Given the description of an element on the screen output the (x, y) to click on. 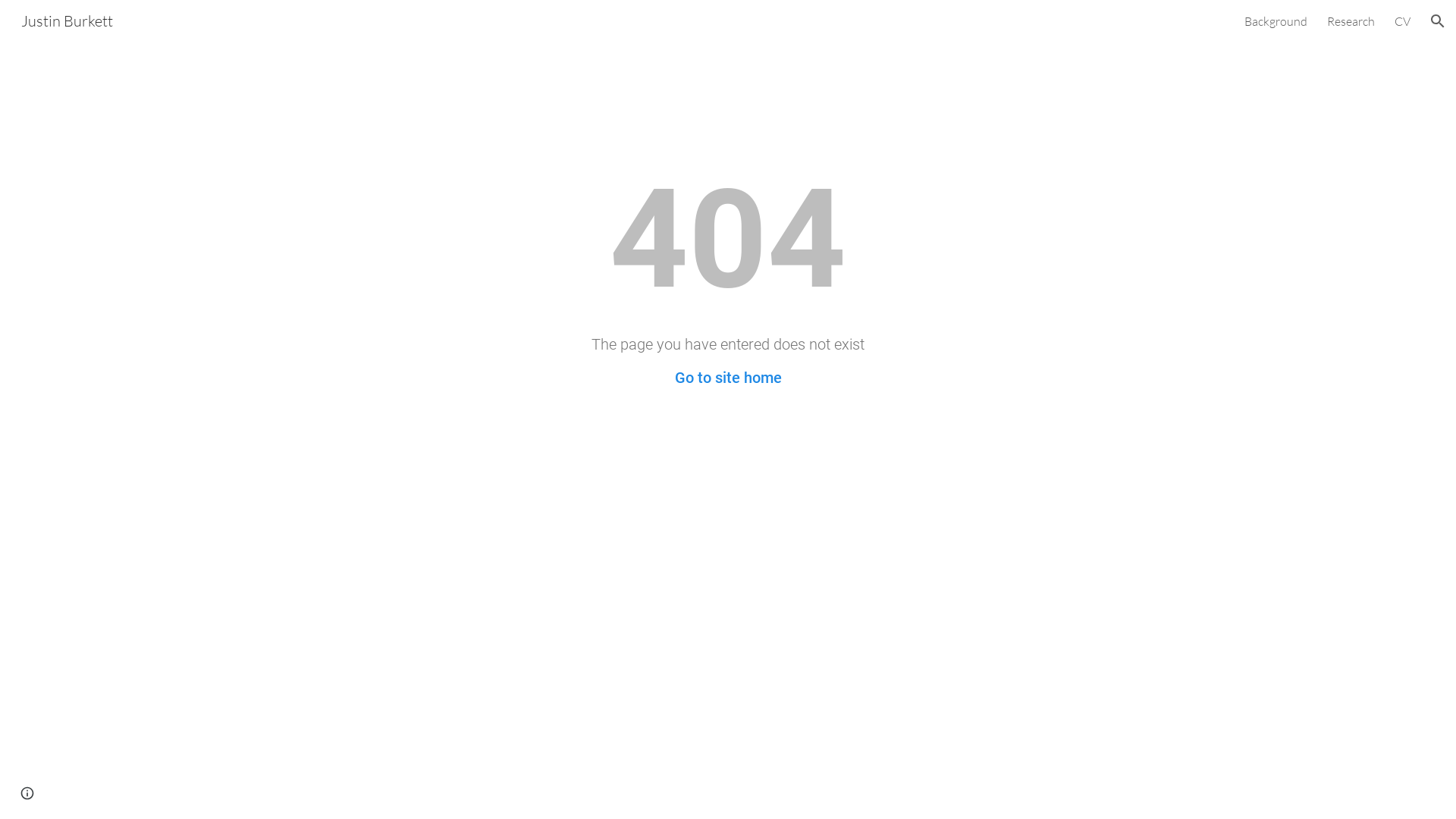
Research Element type: text (1350, 20)
Go to site home Element type: text (727, 377)
Justin Burkett Element type: text (67, 18)
CV Element type: text (1402, 20)
Background Element type: text (1275, 20)
